Given the description of an element on the screen output the (x, y) to click on. 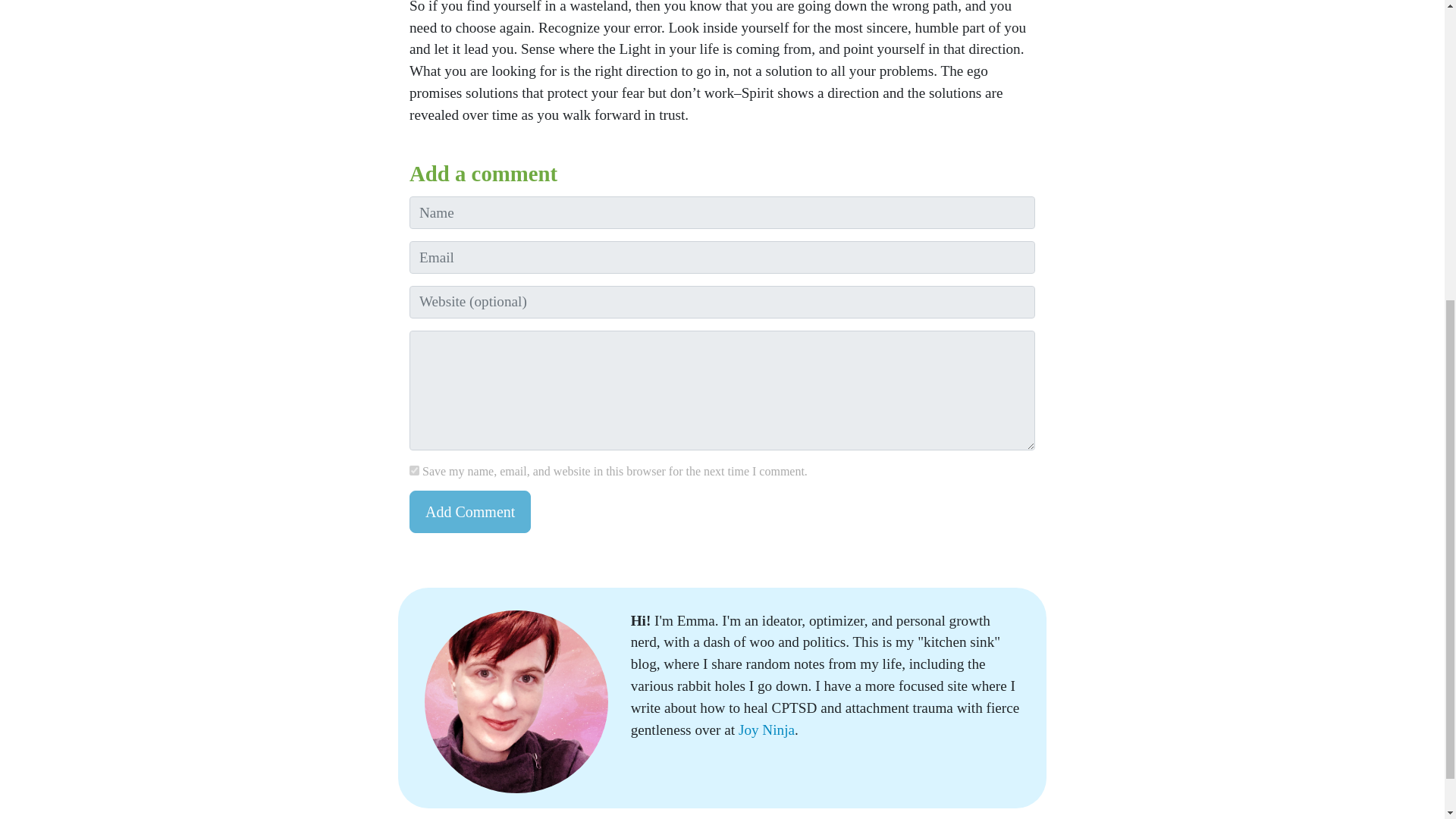
Add Comment (470, 511)
yes (414, 470)
Add Comment (470, 511)
Joy Ninja (766, 729)
